Given the description of an element on the screen output the (x, y) to click on. 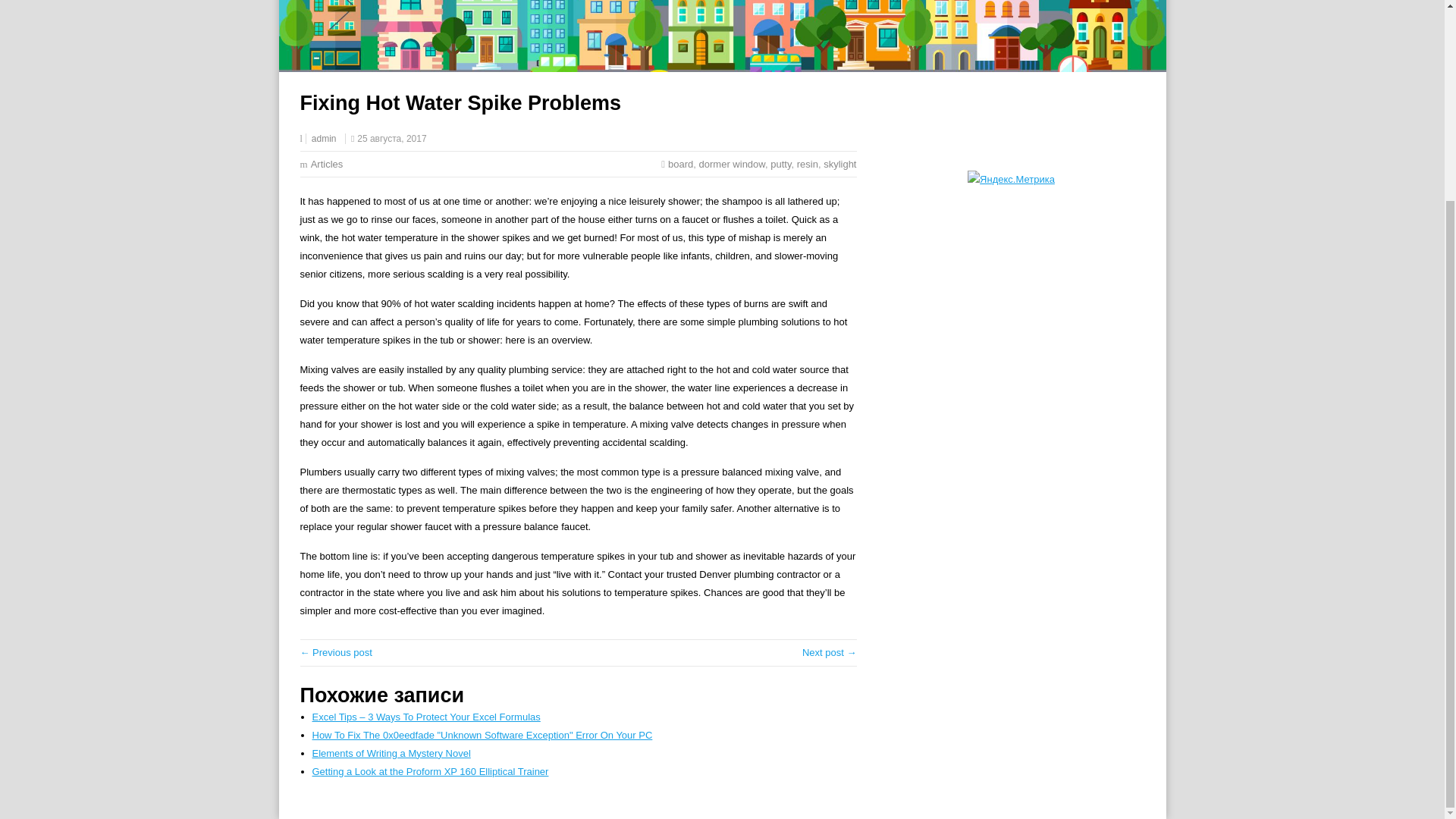
resin (807, 163)
admin (323, 138)
board (680, 163)
Elements of Writing a Mystery Novel (391, 753)
Articles (327, 163)
skylight (840, 163)
Getting a Look at the Proform XP 160 Elliptical Trainer (430, 771)
What Are the Different Types of Interfacing Methods? (829, 652)
putty (780, 163)
dormer window (731, 163)
What You Need To Know About Air Hockey Tables (335, 652)
